Given the description of an element on the screen output the (x, y) to click on. 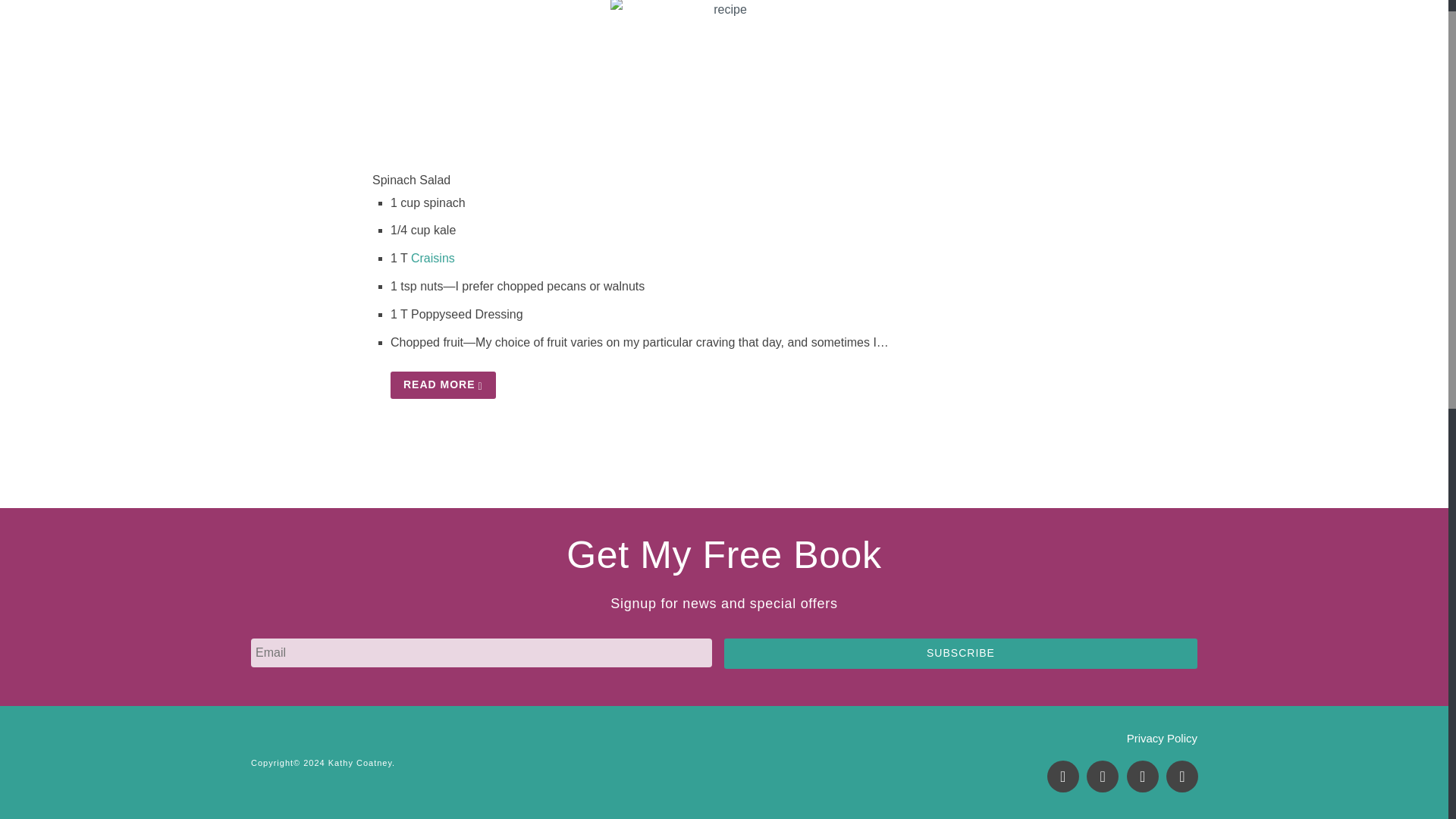
Follow on Twitter (1102, 776)
Read on Goodreads (1182, 776)
Craisins (432, 257)
Subscribe (959, 653)
Subscribe (959, 653)
READ MORE (443, 384)
Like on Facebook (1062, 776)
Follow on Twitter (1102, 776)
Privacy Policy (1161, 738)
Like on Facebook (1062, 776)
